Given the description of an element on the screen output the (x, y) to click on. 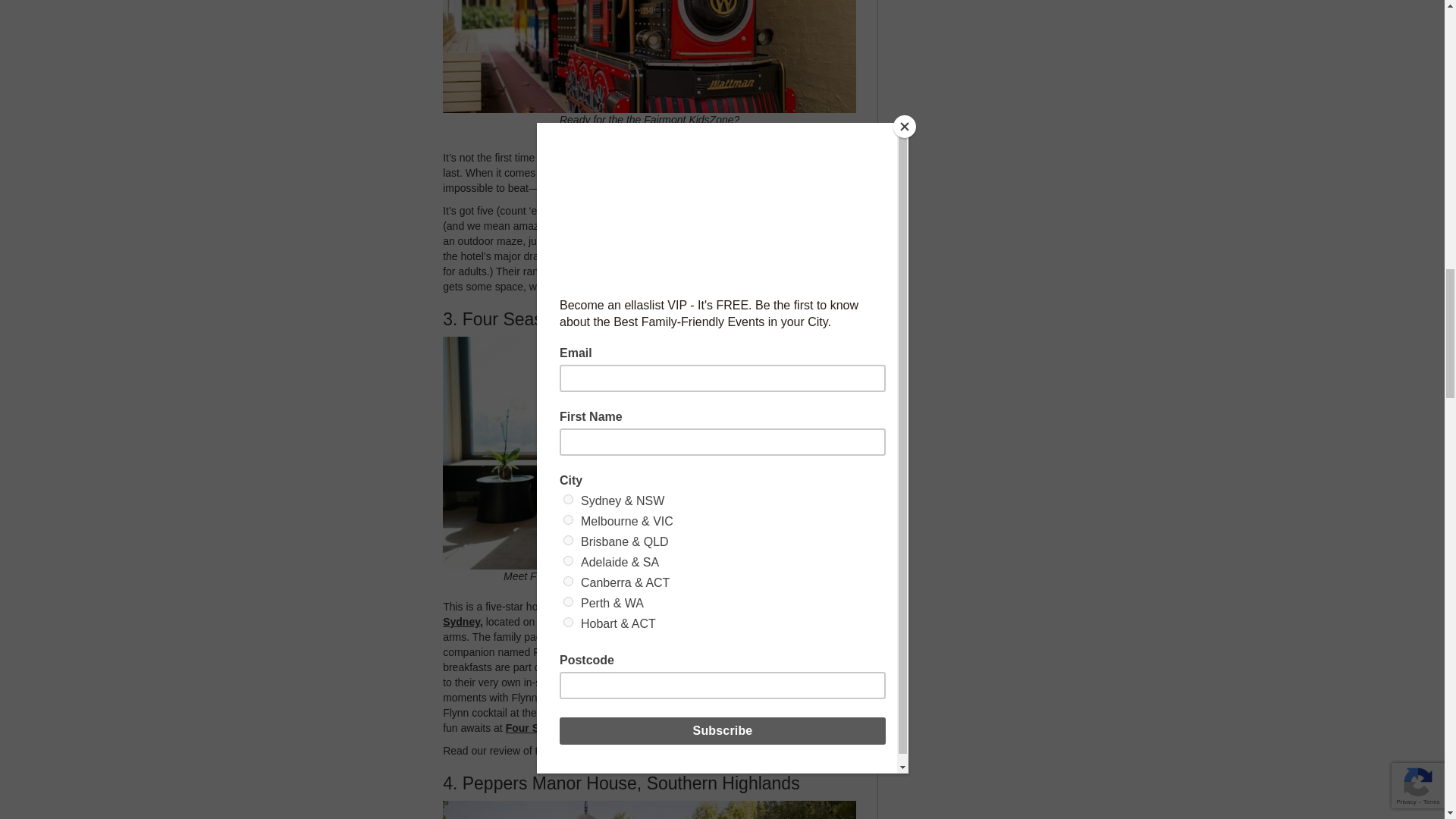
Fairmont (722, 173)
The Four Seasons Hotel Sydney (642, 614)
Four Seasons Hotel Sydney Flynn experience. (662, 750)
Fairmont (560, 157)
Four Seasons! (542, 727)
